Given the description of an element on the screen output the (x, y) to click on. 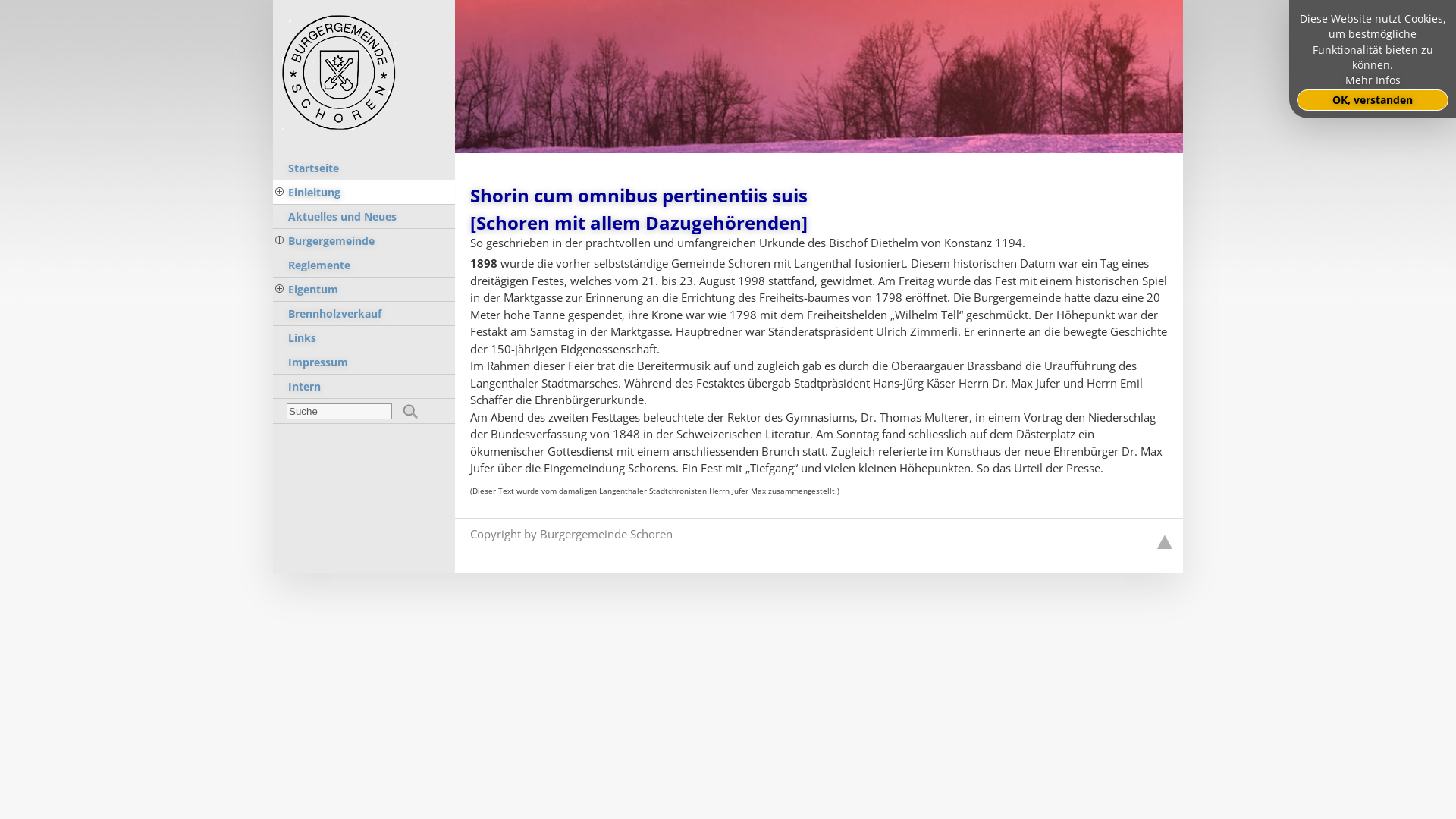
Burgergemeinde Element type: text (364, 241)
Go to top Element type: hover (1164, 542)
Startseite Element type: text (364, 168)
Einleitung Element type: text (364, 192)
Reglemente Element type: text (364, 265)
Intern Element type: text (364, 386)
Brennholzverkauf Element type: text (364, 313)
OK, verstanden Element type: text (1372, 99)
Impressum Element type: text (364, 362)
Eigentum Element type: text (364, 289)
Links Element type: text (364, 338)
Aktuelles und Neues Element type: text (364, 216)
Mehr Infos Element type: text (1372, 80)
